Given the description of an element on the screen output the (x, y) to click on. 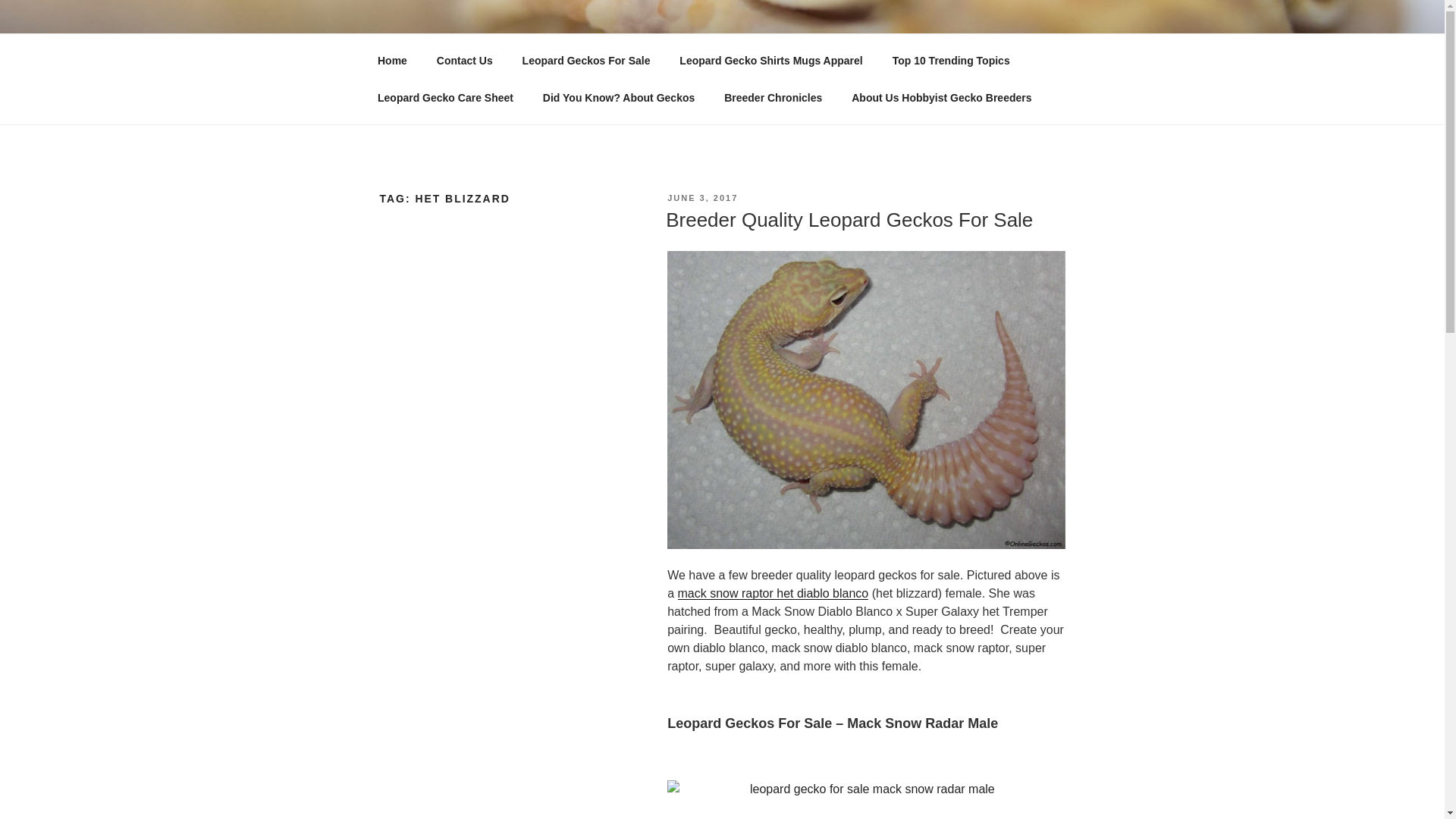
Contact Us (464, 60)
About Us Hobbyist Gecko Breeders (941, 97)
Did You Know? About Geckos (618, 97)
Leopard Gecko Care Sheet (444, 97)
JUNE 3, 2017 (702, 197)
Breeder Chronicles (773, 97)
Leopard Gecko Shirts Mugs Apparel (771, 60)
Home (392, 60)
ONLINEGECKOS.COM GECKO BREEDER (681, 52)
Breeder Quality Leopard Geckos For Sale (848, 219)
mack snow raptor het diablo blanco (773, 593)
Leopard Geckos For Sale (585, 60)
Top 10 Trending Topics (951, 60)
